Given the description of an element on the screen output the (x, y) to click on. 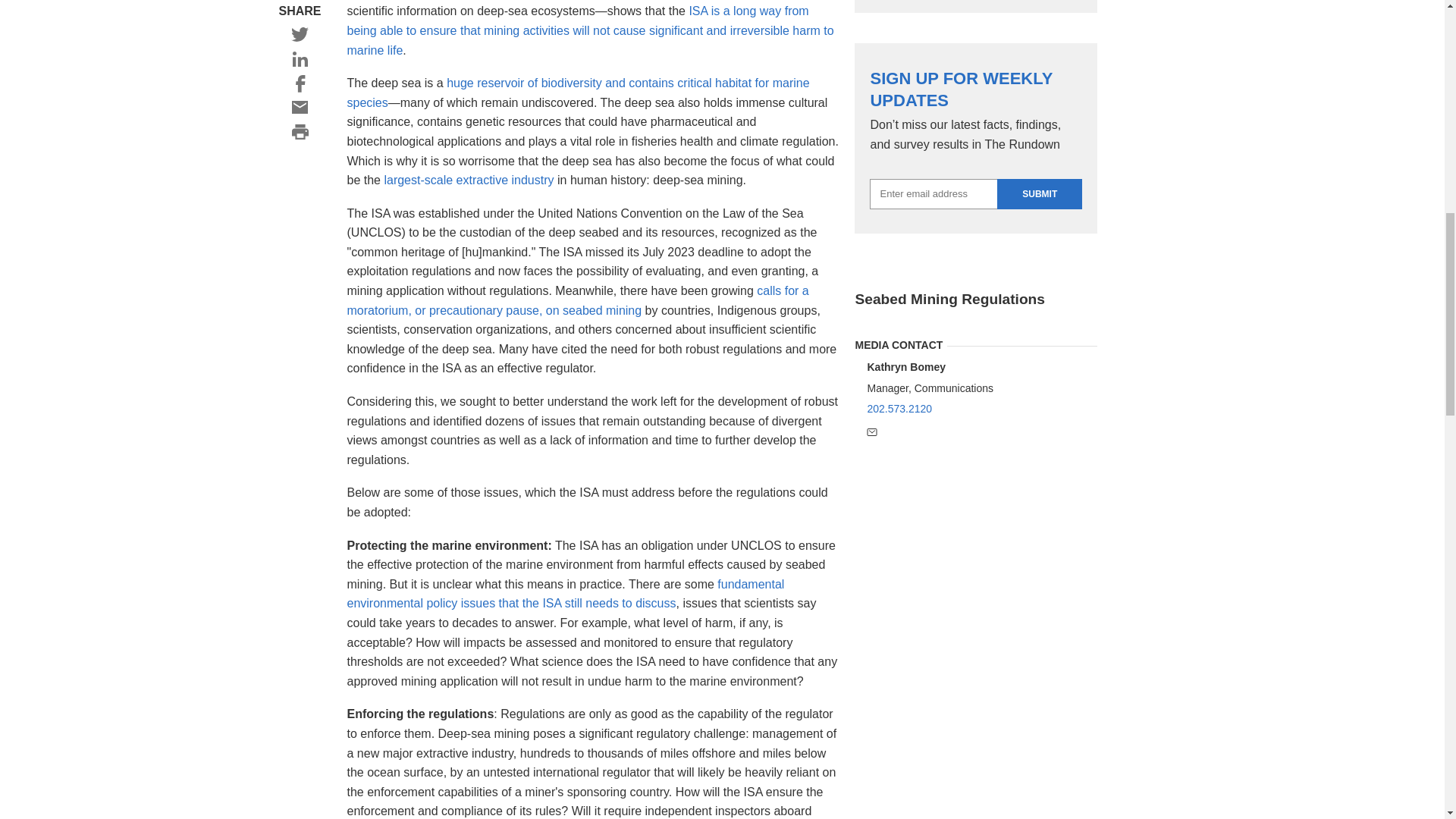
Submit (1039, 194)
